Given the description of an element on the screen output the (x, y) to click on. 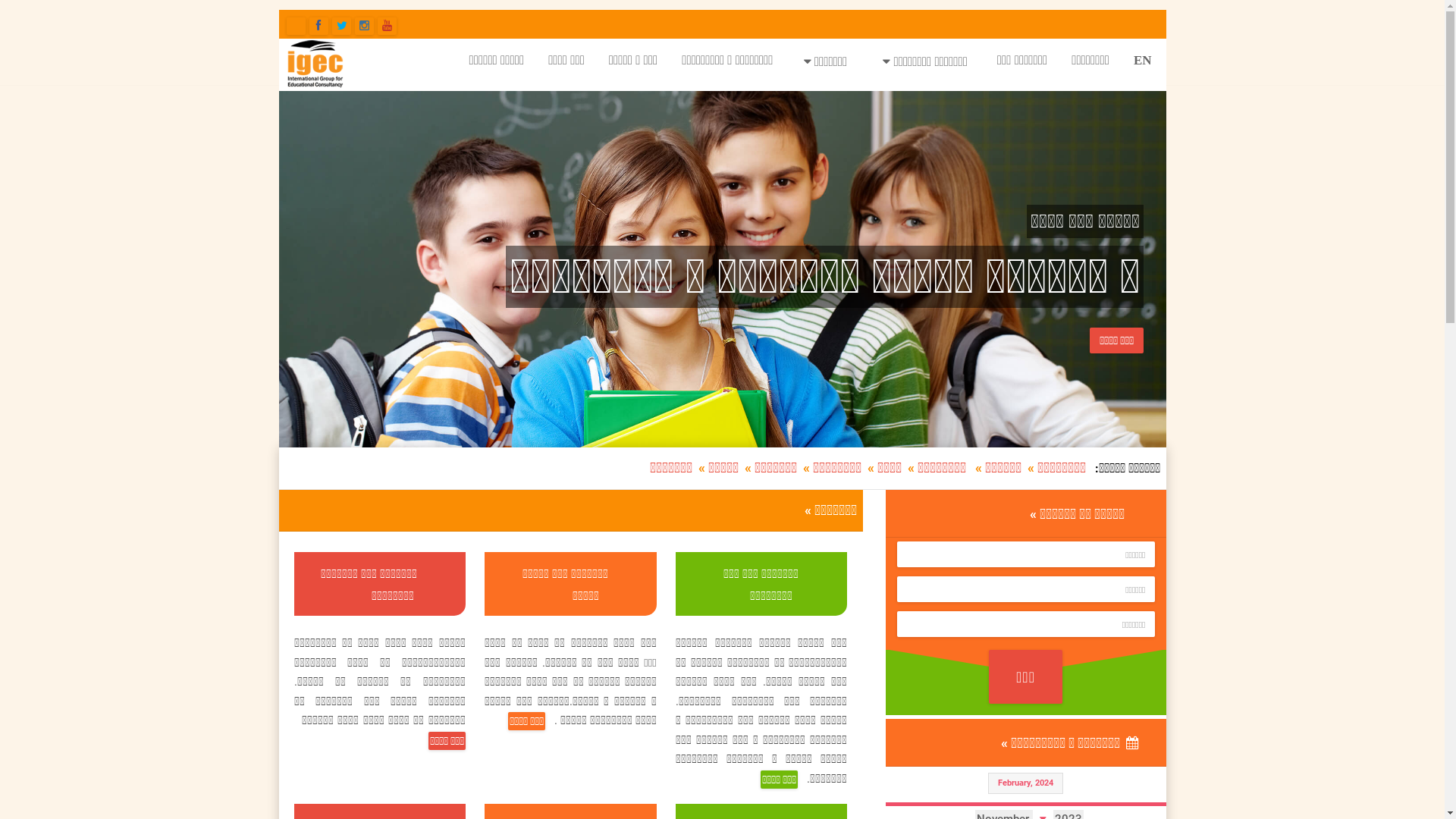
youtube Element type: hover (386, 25)
instagram Element type: hover (363, 25)
IGEC CRM Element type: hover (295, 25)
Twitter Element type: hover (341, 25)
EN Element type: text (1142, 58)
Facebook Element type: hover (318, 25)
February, 2024 Element type: text (1025, 782)
